Given the description of an element on the screen output the (x, y) to click on. 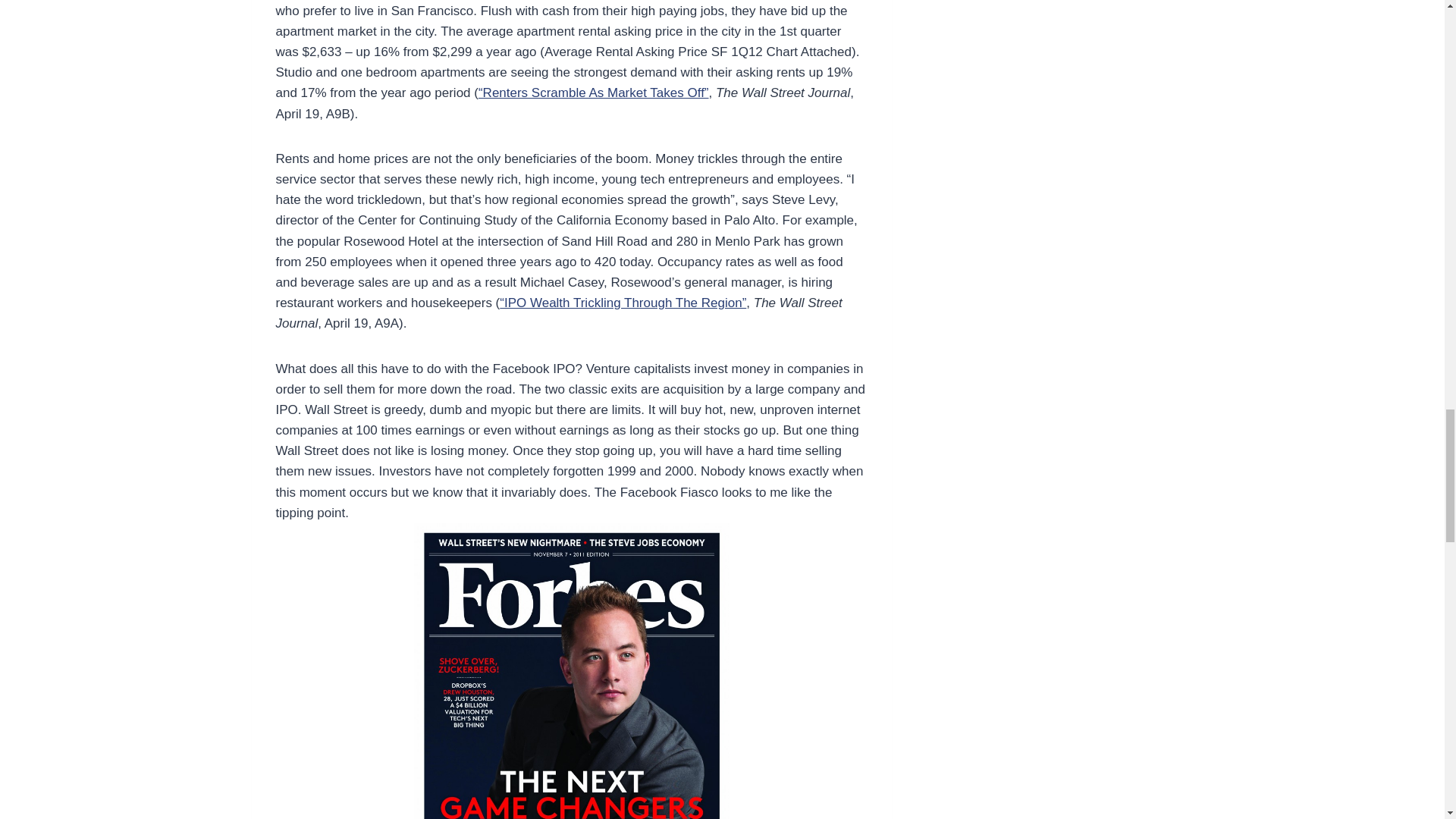
Forbes cover 1107 subs poly r1 outline (571, 671)
